Given the description of an element on the screen output the (x, y) to click on. 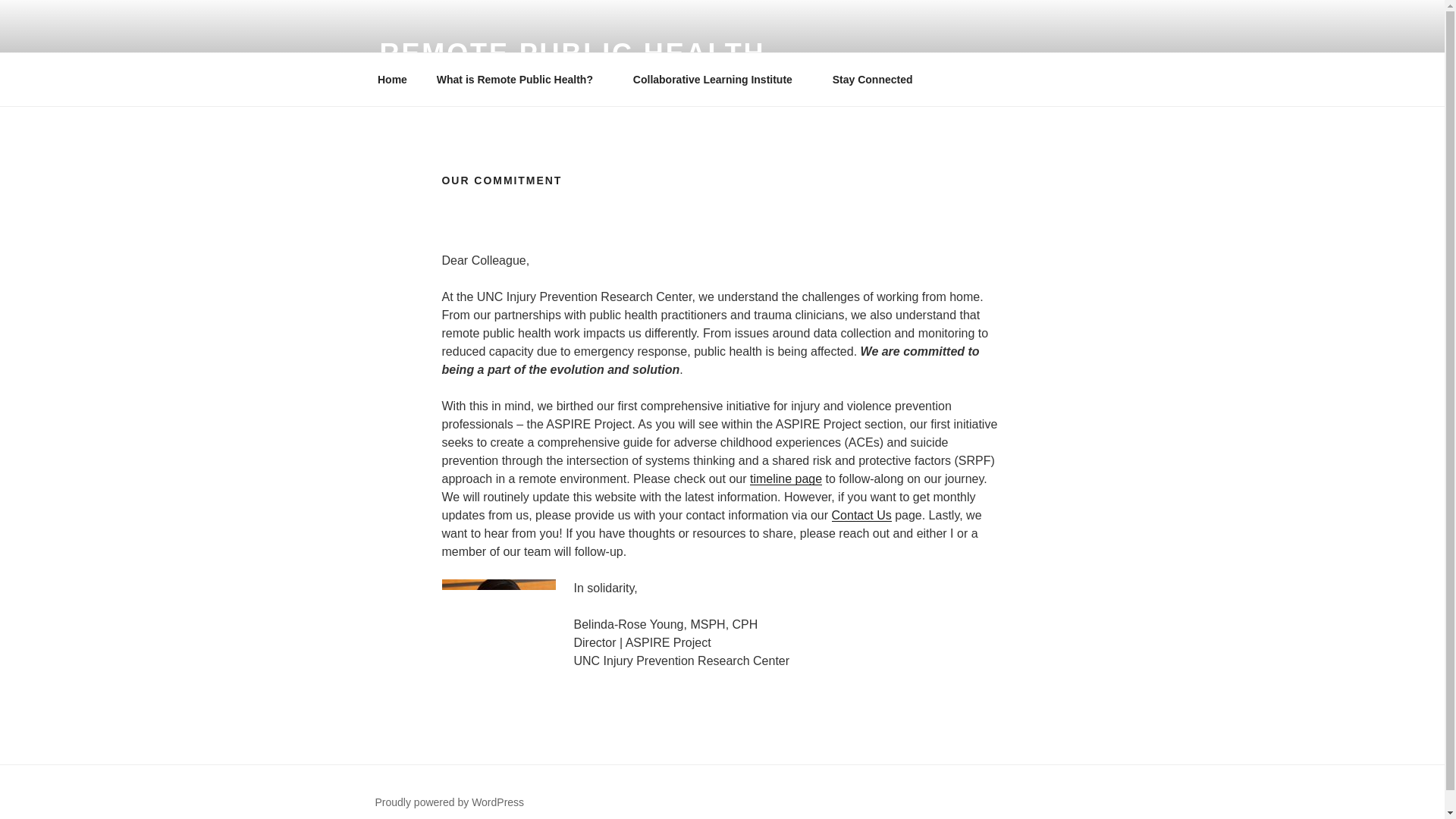
Proudly powered by WordPress (449, 802)
Contact Us (861, 514)
Collaborative Learning Institute (717, 78)
What is Remote Public Health? (519, 78)
Home (392, 78)
timeline page (785, 478)
REMOTE PUBLIC HEALTH (571, 52)
Stay Connected (872, 78)
